Given the description of an element on the screen output the (x, y) to click on. 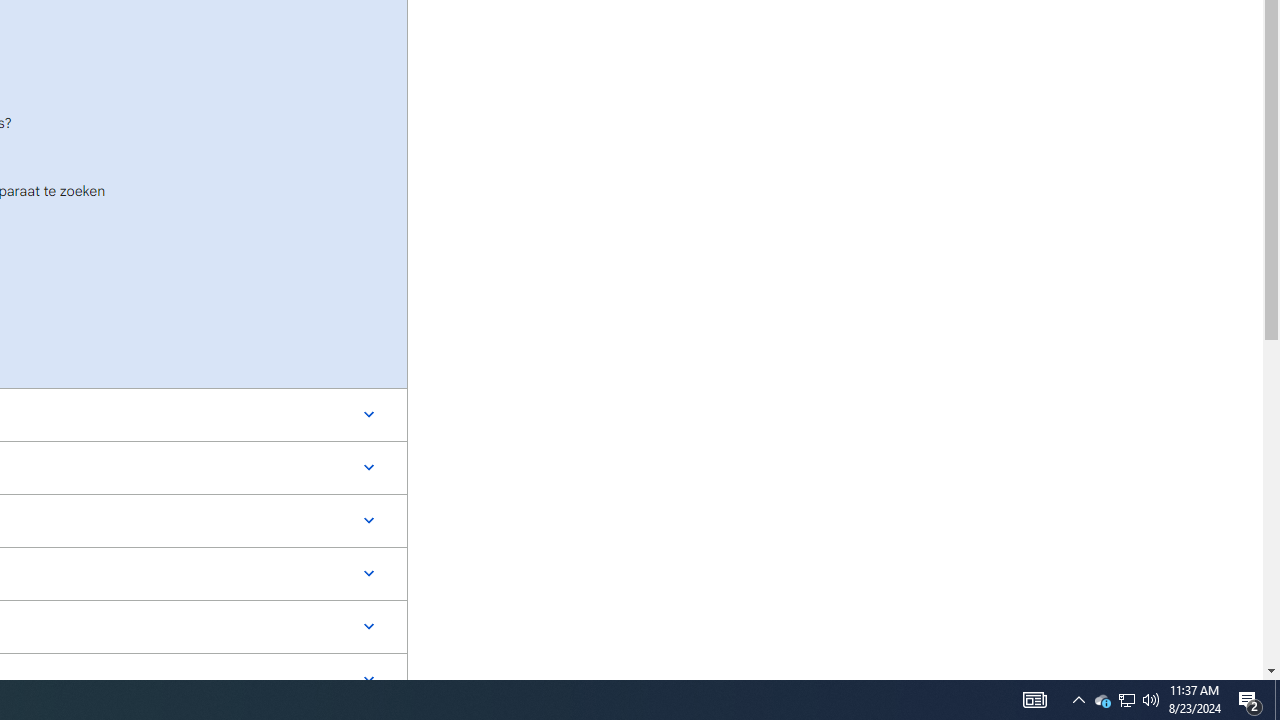
Show desktop (1102, 699)
Action Center, 2 new notifications (1126, 699)
User Promoted Notification Area (1277, 699)
AutomationID: 4105 (1250, 699)
Notification Chevron (1126, 699)
Q2790: 100% (1034, 699)
